Given the description of an element on the screen output the (x, y) to click on. 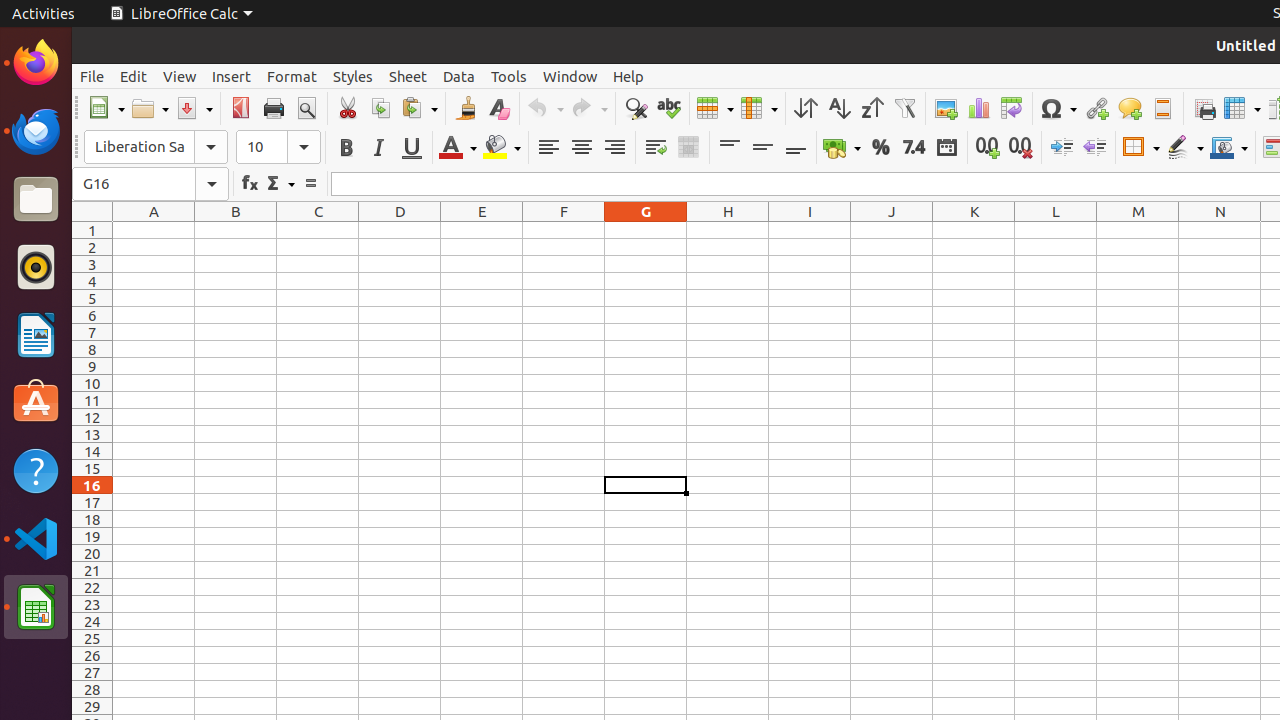
M1 Element type: table-cell (1138, 230)
Formula Element type: push-button (310, 183)
Find & Replace Element type: toggle-button (635, 108)
File Element type: menu (92, 76)
Align Center Element type: push-button (581, 147)
